Given the description of an element on the screen output the (x, y) to click on. 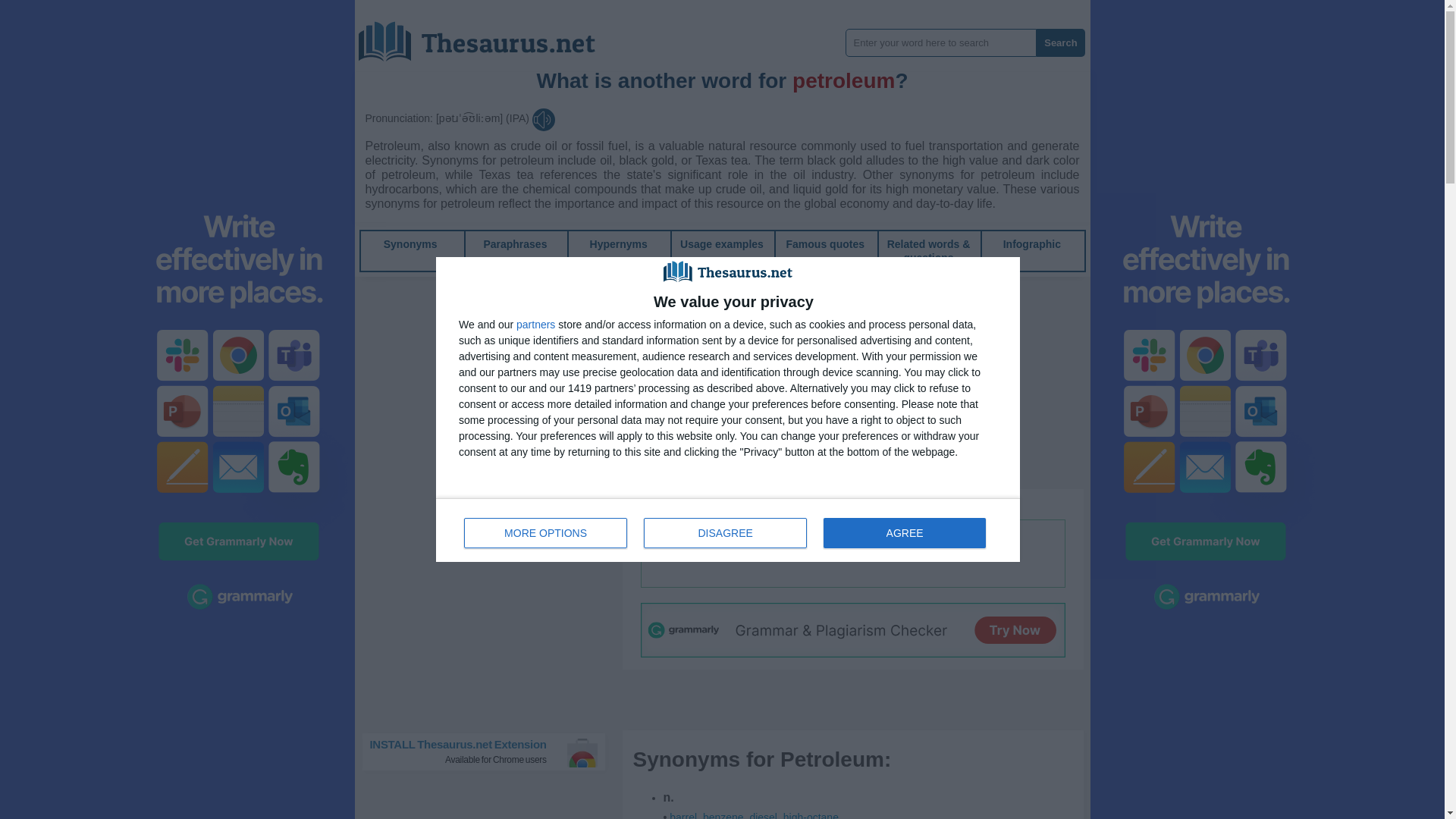
Usage examples (720, 244)
Infographic (1032, 244)
Synonyms (411, 244)
Famous quotes (825, 244)
diesel (763, 815)
partners (535, 324)
Synonyms for Petroleum (763, 815)
benzene (723, 815)
high-octane (810, 815)
